Given the description of an element on the screen output the (x, y) to click on. 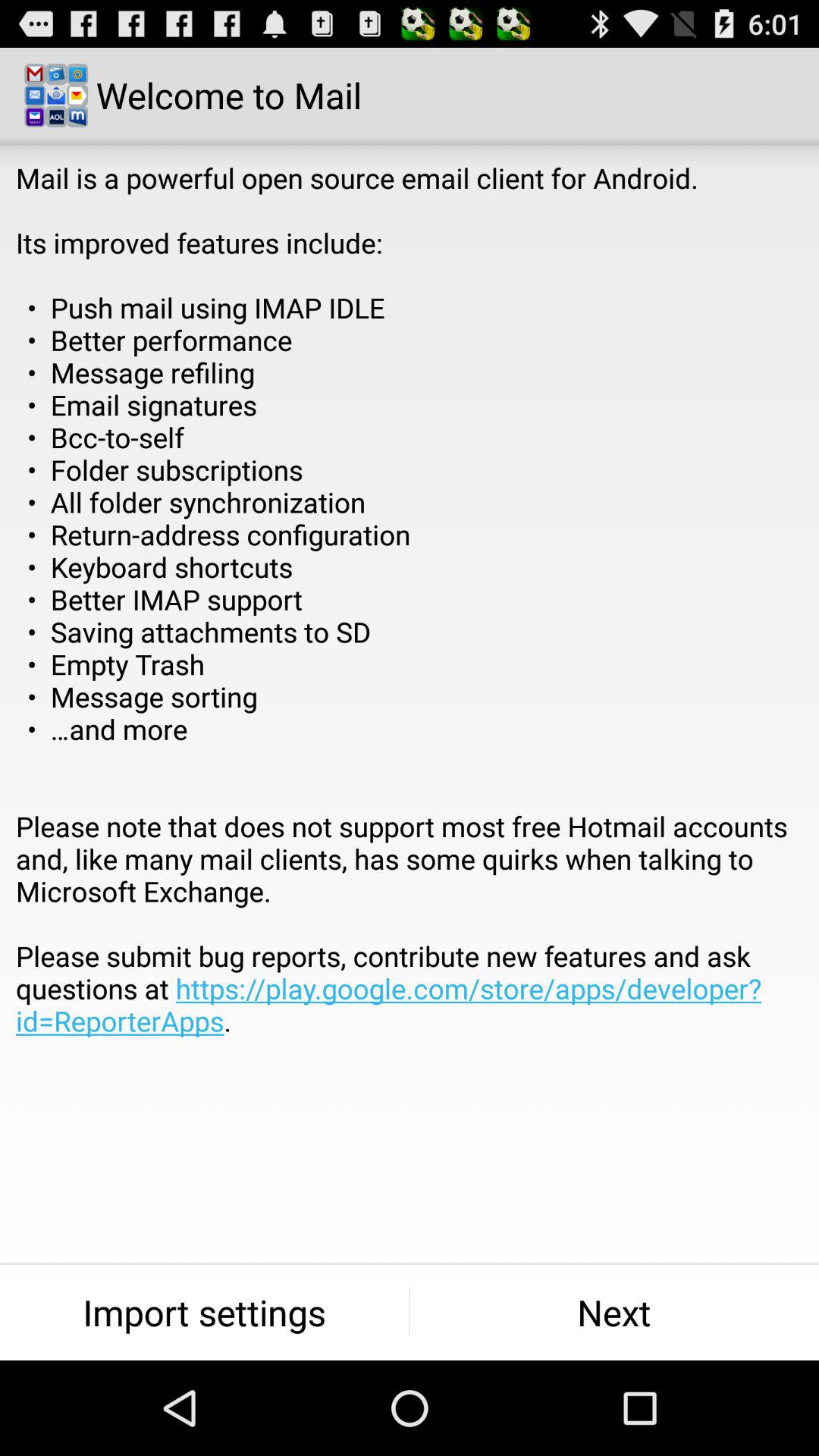
tap the mail is a item (409, 631)
